Given the description of an element on the screen output the (x, y) to click on. 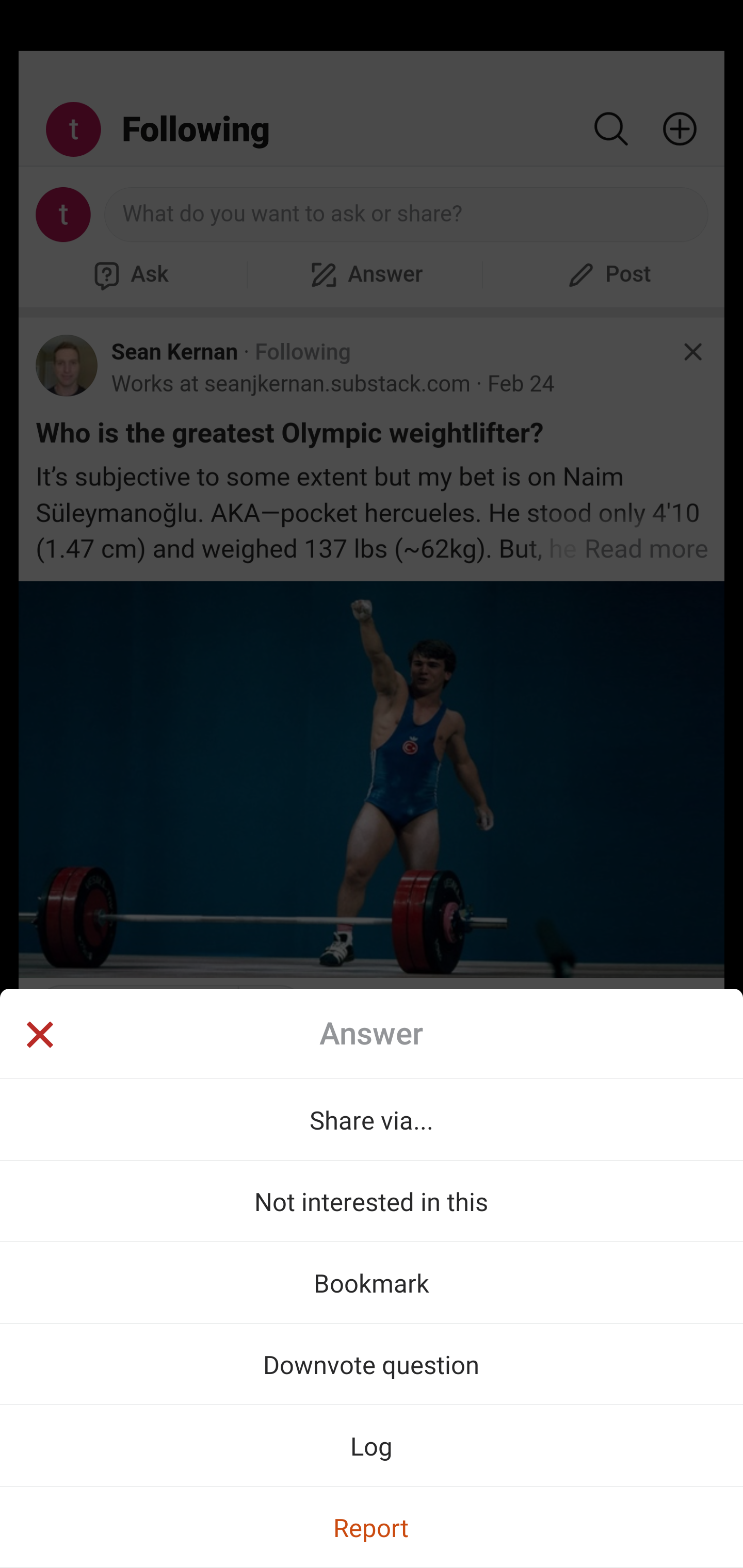
 Answer (371, 1033)
 (39, 1036)
Share via... (371, 1119)
Not interested in this (371, 1200)
Bookmark (371, 1282)
Downvote question (371, 1363)
Log (371, 1445)
Report (371, 1527)
